Given the description of an element on the screen output the (x, y) to click on. 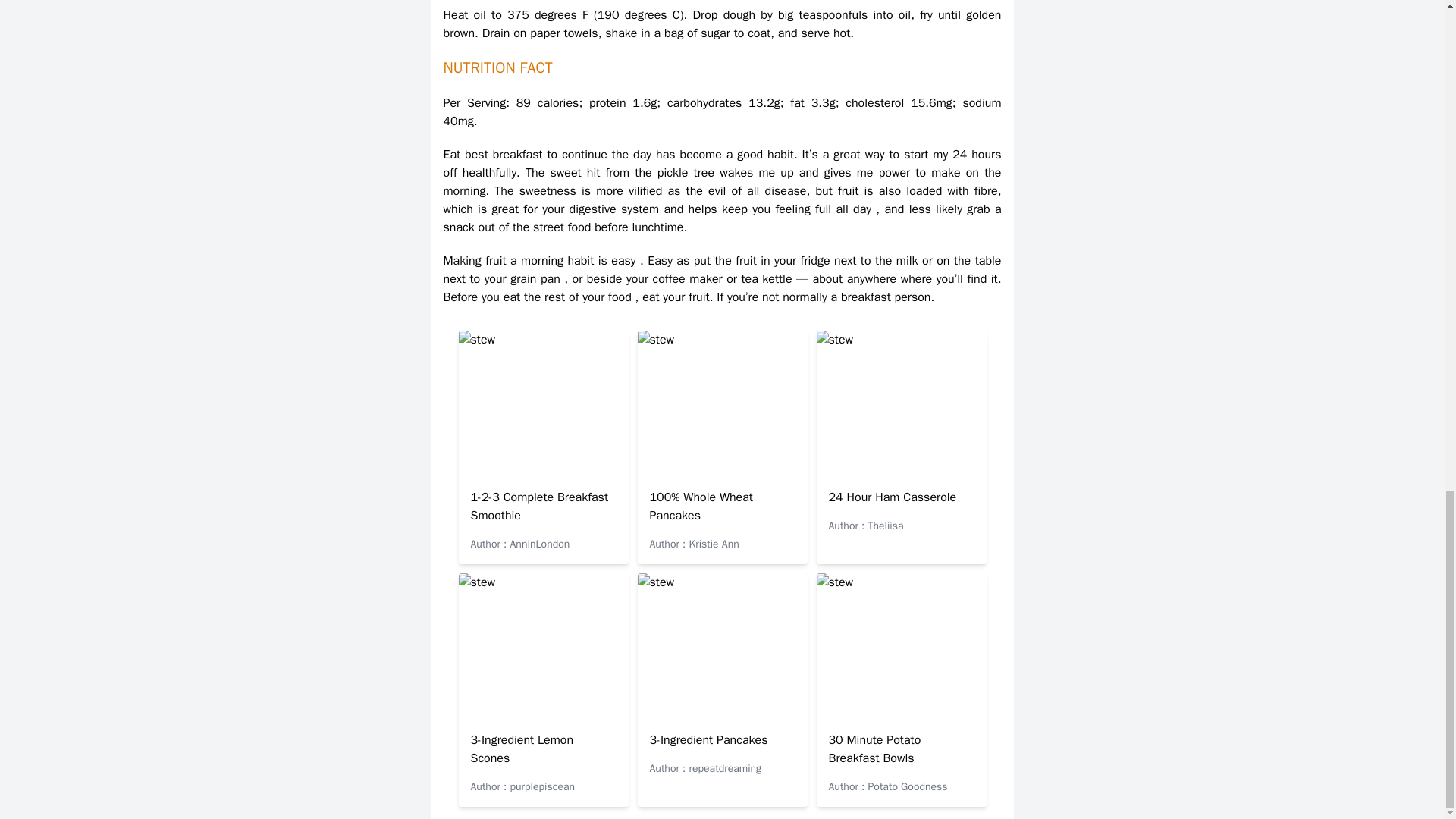
30 Minute Potato Breakfast Bowls (874, 748)
3-Ingredient Pancakes (708, 739)
3-Ingredient Lemon Scones (521, 748)
24 Hour Ham Casserole (892, 497)
1-2-3 Complete Breakfast Smoothie (539, 506)
